Given the description of an element on the screen output the (x, y) to click on. 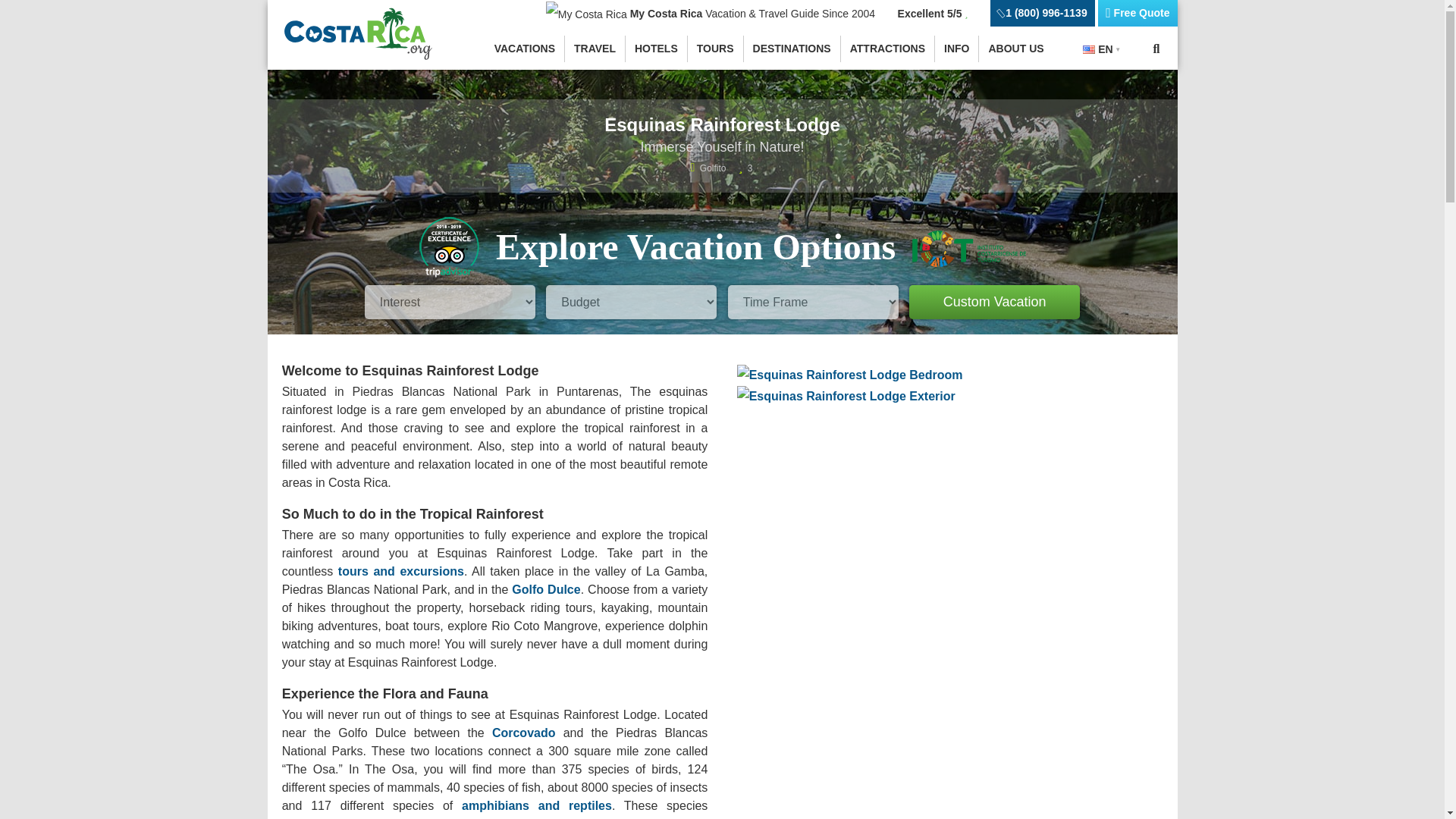
Custom Vacation (994, 302)
Esquinas Rainforest Lodge Dinner (948, 761)
Esquinas Rainforest Lodge Lake View (948, 554)
Esquinas Rainforest Lodge Bedroom (849, 373)
Esquinas Rainforest Lodge Lake View (948, 553)
TRAVEL (595, 49)
VACATIONS (524, 49)
HOTELS (656, 49)
Esquinas Rainforest Lodge Exterior (845, 395)
Esquinas Rainforest Lodge Exterior (845, 395)
